Given the description of an element on the screen output the (x, y) to click on. 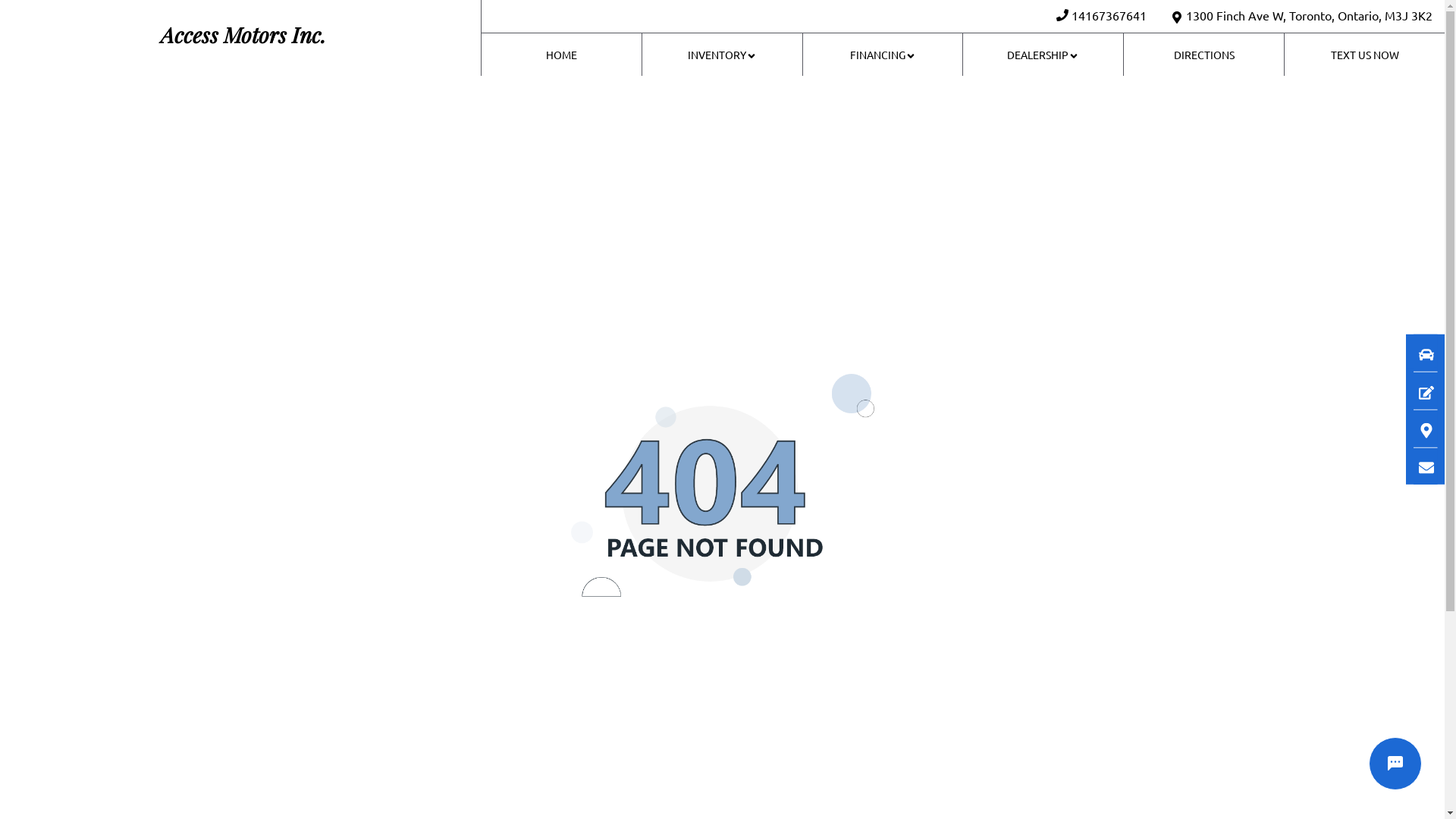
TEXT US NOW Element type: text (1364, 54)
Access Motors Inc. Element type: text (240, 37)
DEALERSHIP Element type: text (1043, 54)
INVENTORY Element type: text (722, 54)
DIRECTIONS Element type: text (1203, 54)
Inventory Element type: text (1417, 352)
HOME Element type: text (561, 54)
14167367641 Element type: text (1108, 15)
Direction Element type: text (1417, 427)
Online Chat Element type: hover (1394, 763)
FINANCING Element type: text (883, 54)
